Given the description of an element on the screen output the (x, y) to click on. 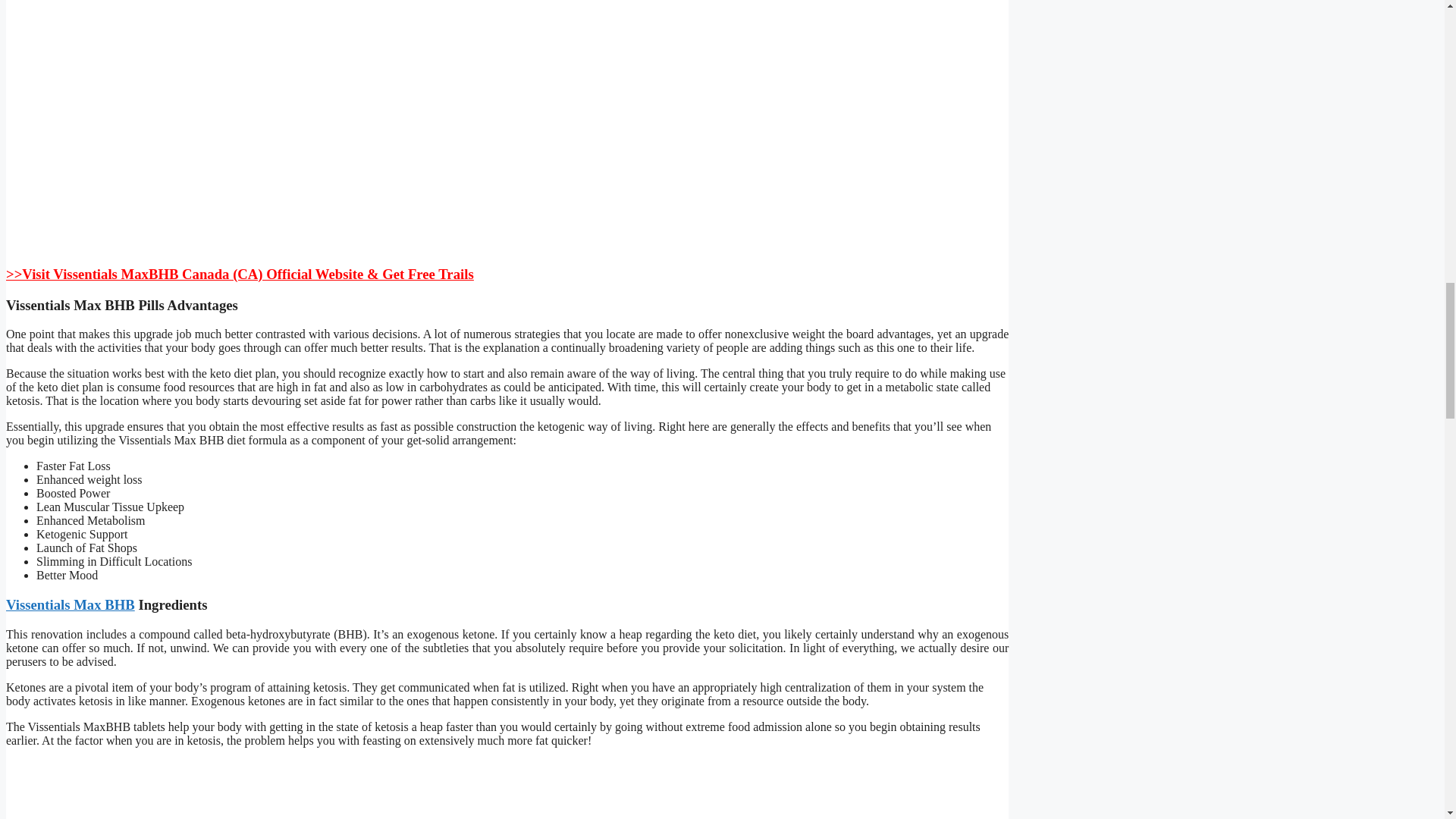
Vissentials Max BHB (70, 604)
